Given the description of an element on the screen output the (x, y) to click on. 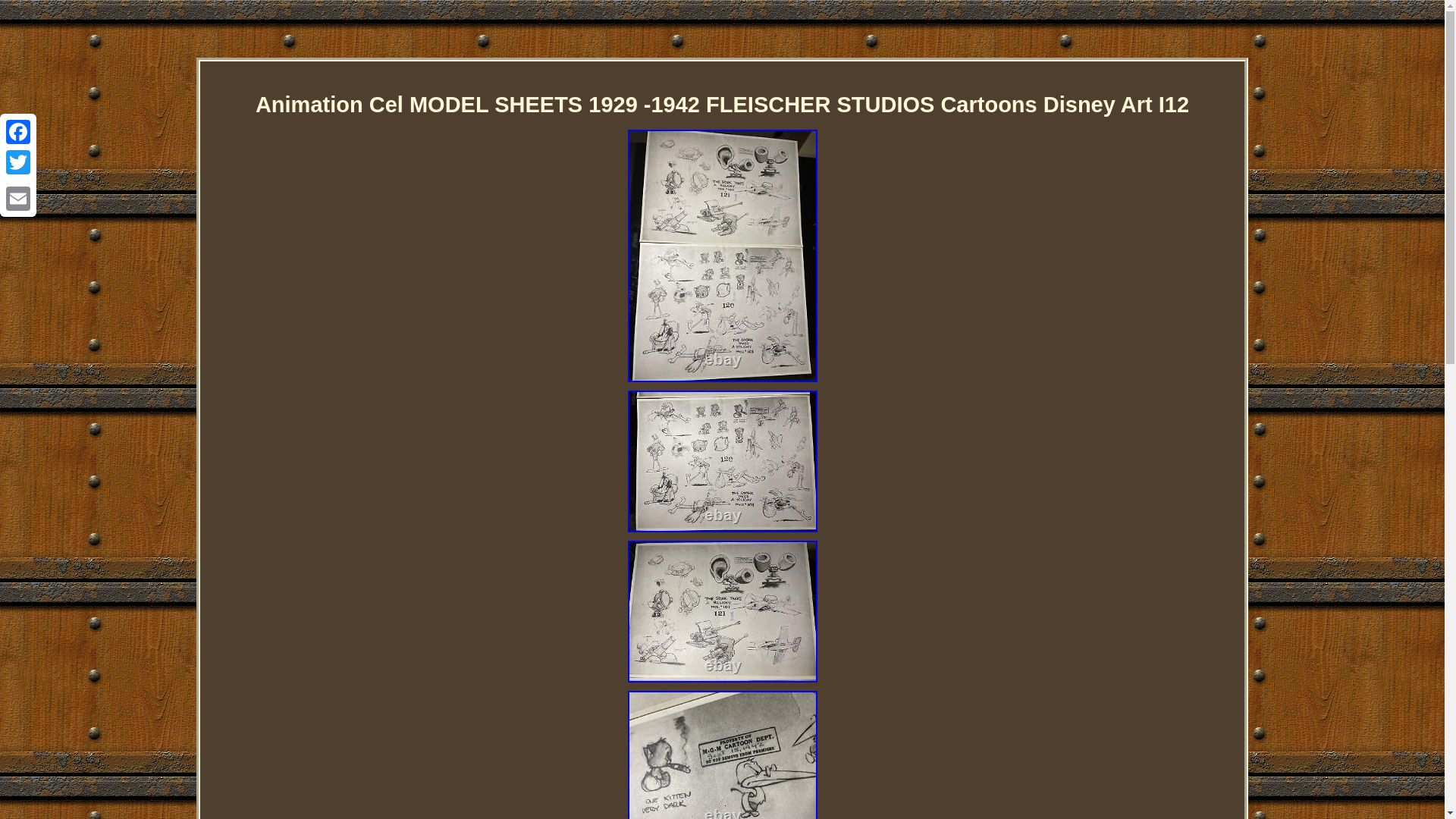
Twitter (17, 162)
Facebook (17, 132)
Email (17, 198)
